Given the description of an element on the screen output the (x, y) to click on. 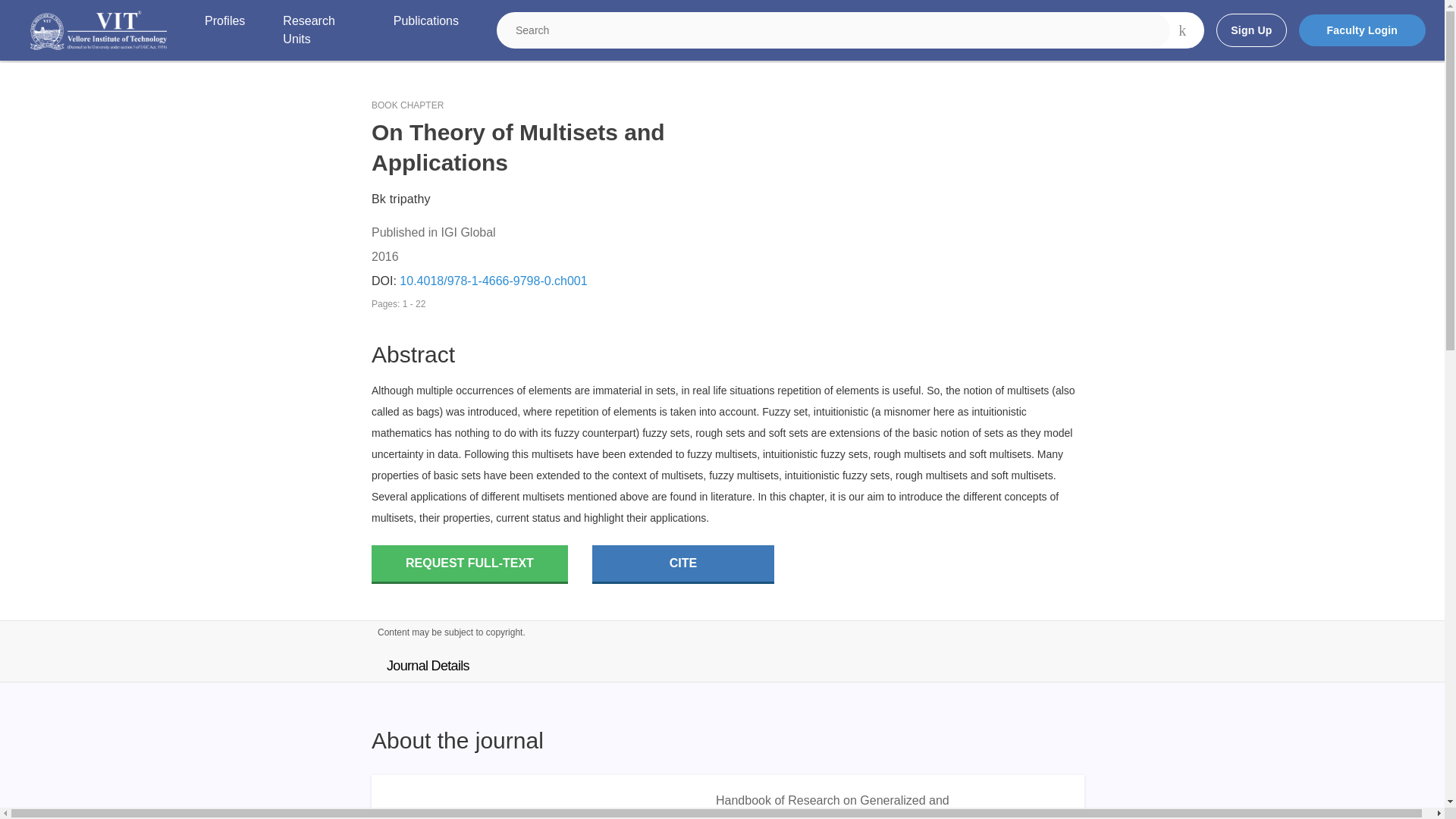
Institution logo (98, 30)
Profiles (224, 30)
Sign Up (1250, 29)
Faculty Login (1361, 29)
Publications (425, 30)
REQUEST FULL-TEXT (469, 564)
Journal Details (427, 665)
Research Units (318, 30)
CITE (683, 564)
